Given the description of an element on the screen output the (x, y) to click on. 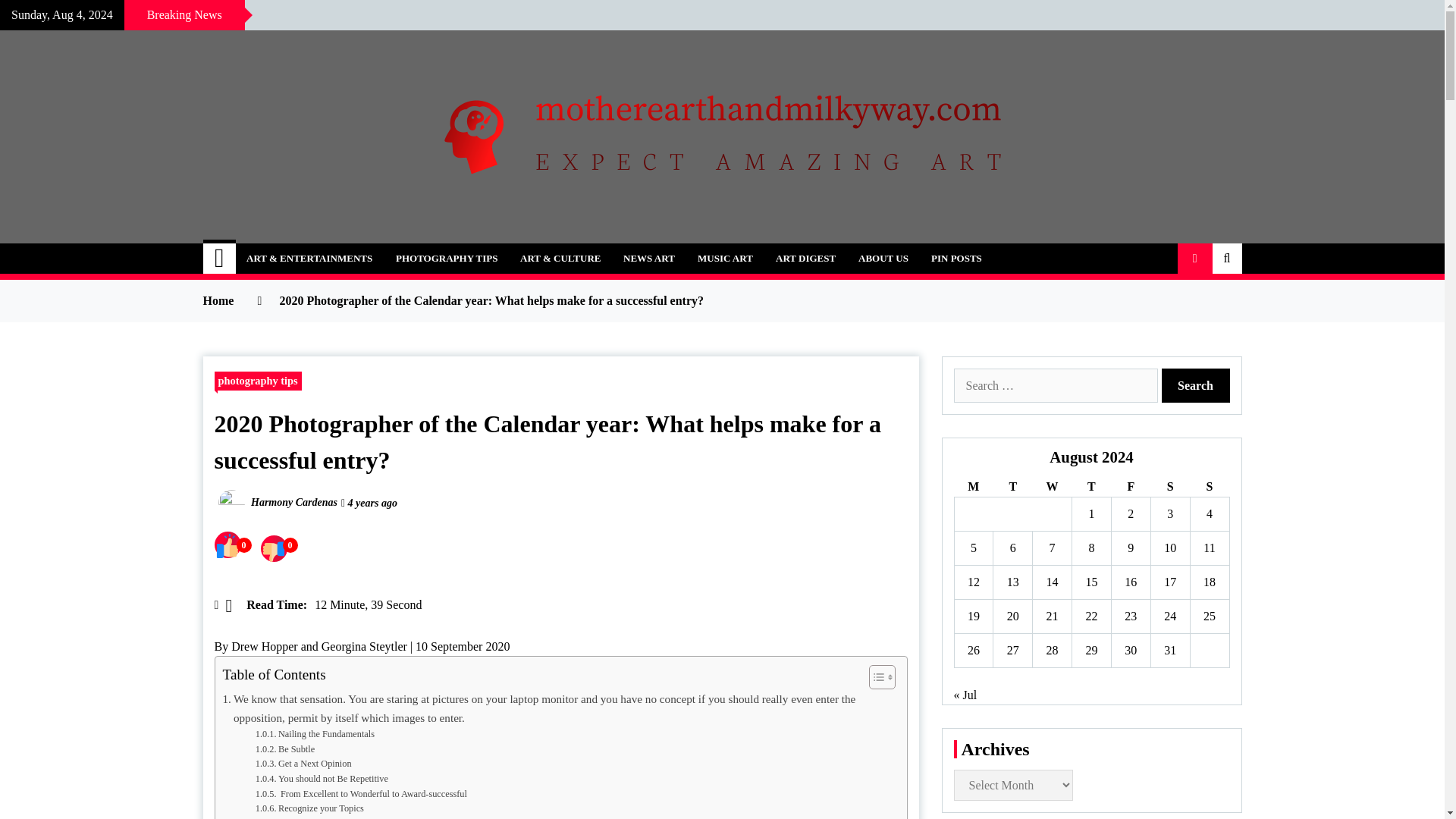
MUSIC ART (724, 258)
Search (1195, 385)
Get a Next Opinion (304, 764)
NEWS ART (648, 258)
PHOTOGRAPHY TIPS (446, 258)
Recognize your Topics (310, 808)
You should not Be Repetitive (322, 779)
Tuesday (1012, 486)
Nailing the Fundamentals (315, 734)
Wednesday (1051, 486)
Be Subtle (285, 749)
Motherearthandmilkyway.com (426, 250)
Monday (972, 486)
